Given the description of an element on the screen output the (x, y) to click on. 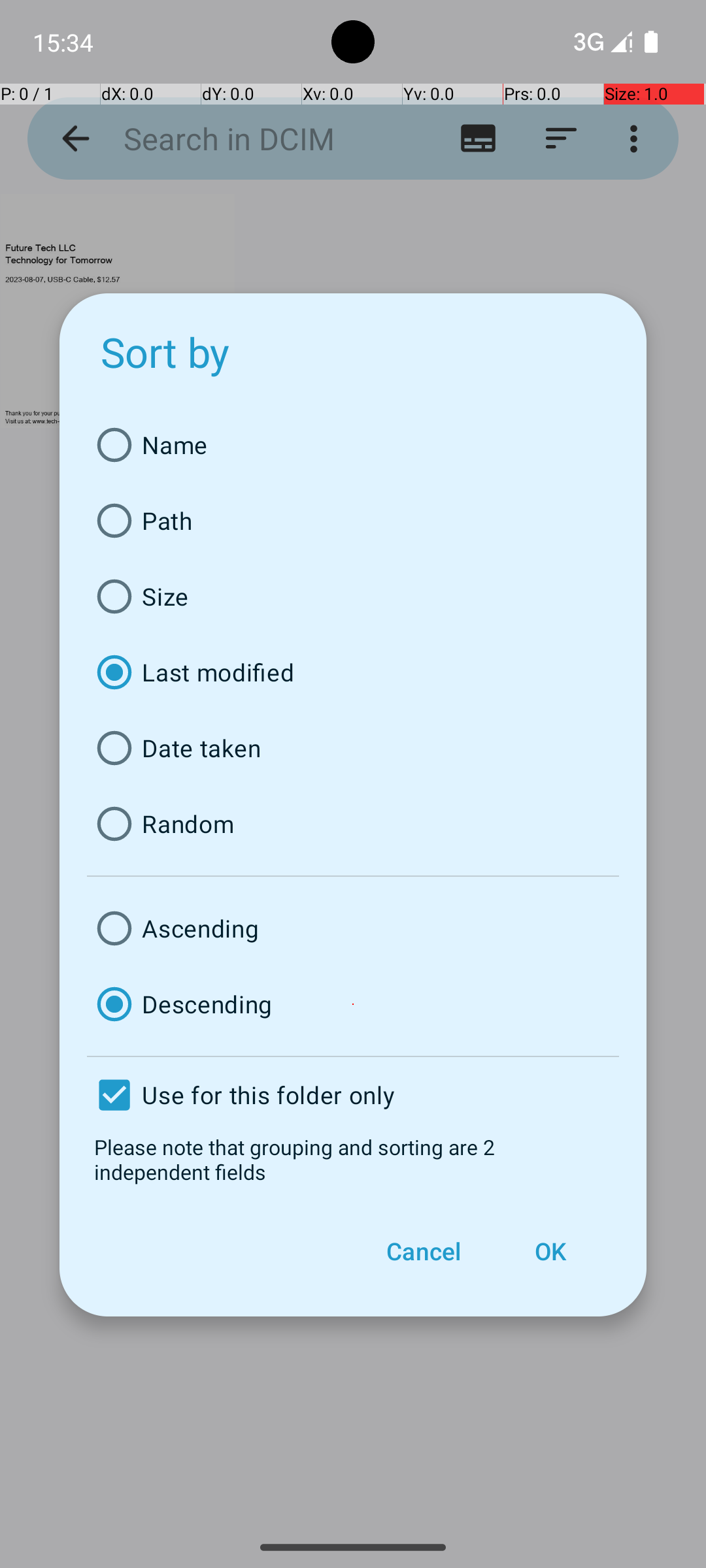
Use for this folder only Element type: android.widget.CheckBox (352, 1094)
Please note that grouping and sorting are 2 independent fields Element type: android.widget.TextView (352, 1158)
Path Element type: android.widget.RadioButton (352, 520)
Size Element type: android.widget.RadioButton (352, 596)
Last modified Element type: android.widget.RadioButton (352, 672)
Date taken Element type: android.widget.RadioButton (352, 747)
Random Element type: android.widget.RadioButton (352, 823)
Ascending Element type: android.widget.RadioButton (352, 928)
Descending Element type: android.widget.RadioButton (352, 1004)
